Given the description of an element on the screen output the (x, y) to click on. 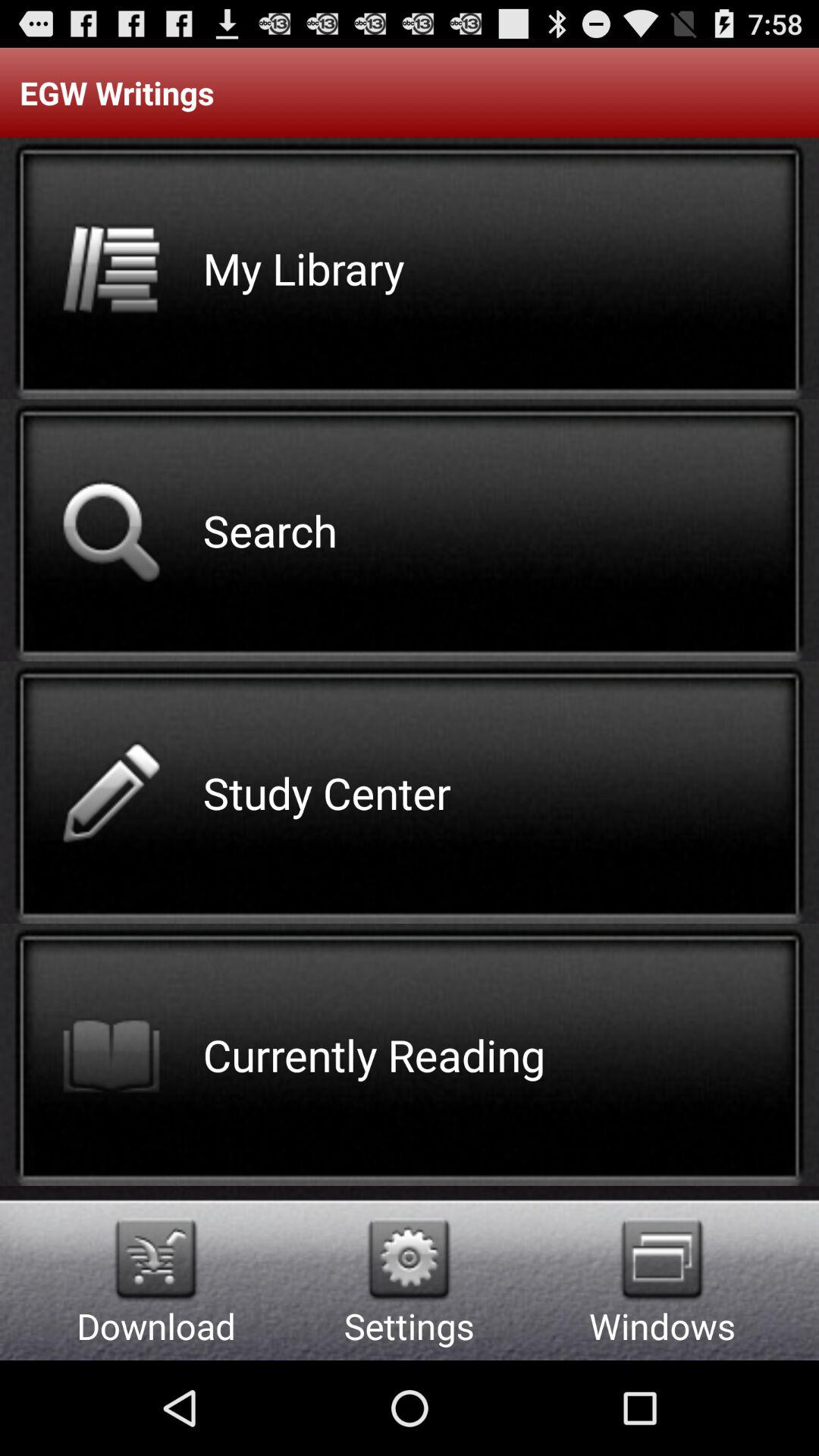
open app above download app (156, 1258)
